Given the description of an element on the screen output the (x, y) to click on. 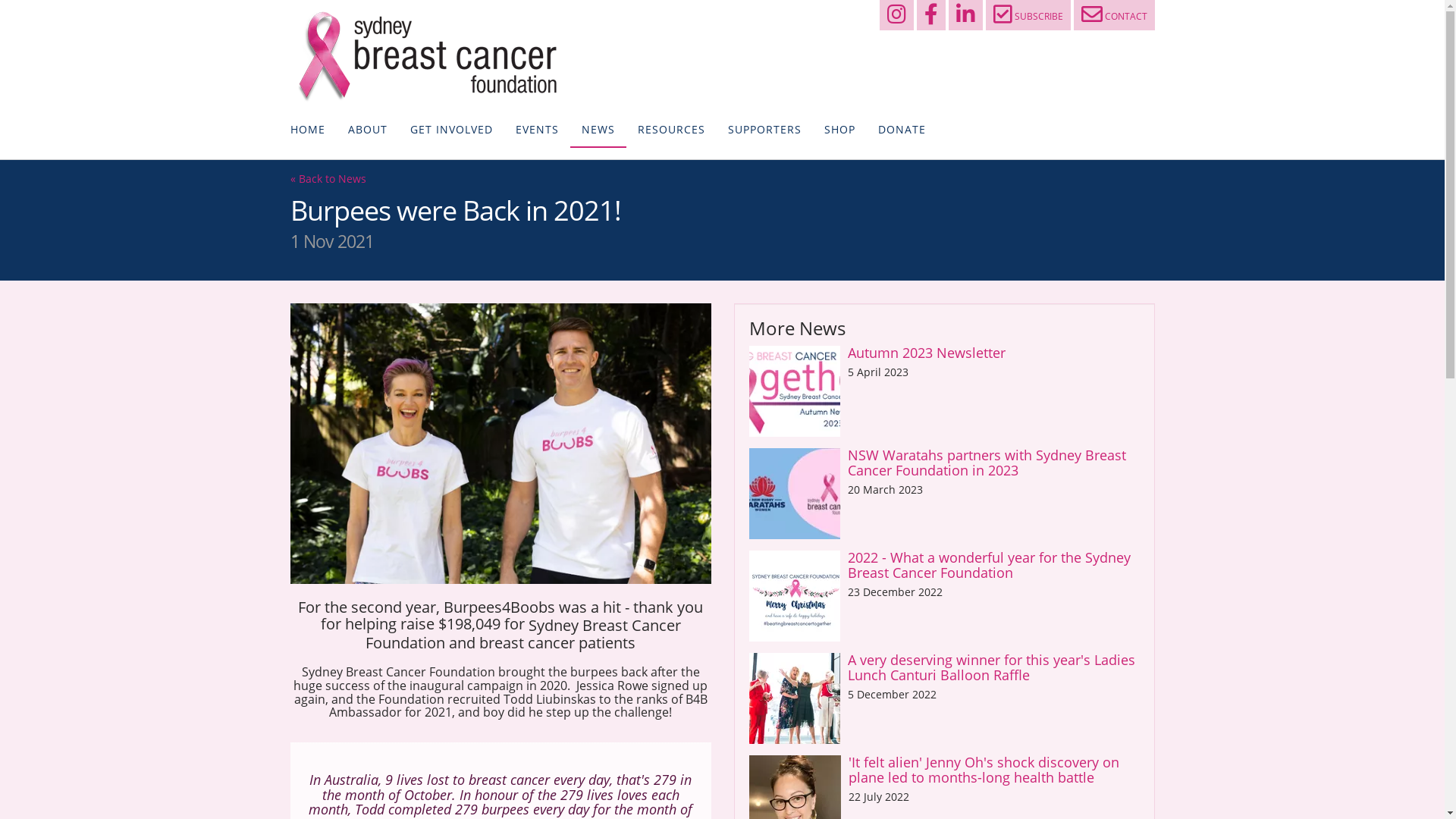
EVENTS Element type: text (536, 129)
ABOUT Element type: text (367, 129)
NEWS Element type: text (598, 129)
SHOP Element type: text (839, 129)
GET INVOLVED Element type: text (451, 129)
CONTACT Element type: text (1113, 15)
Autumn 2023 Newsletter Element type: hover (794, 390)
DONATE Element type: text (901, 129)
SUBSCRIBE Element type: text (1027, 15)
SUPPORTERS Element type: text (763, 129)
HOME Element type: text (307, 129)
RESOURCES Element type: text (671, 129)
Autumn 2023 Newsletter Element type: text (926, 352)
